Given the description of an element on the screen output the (x, y) to click on. 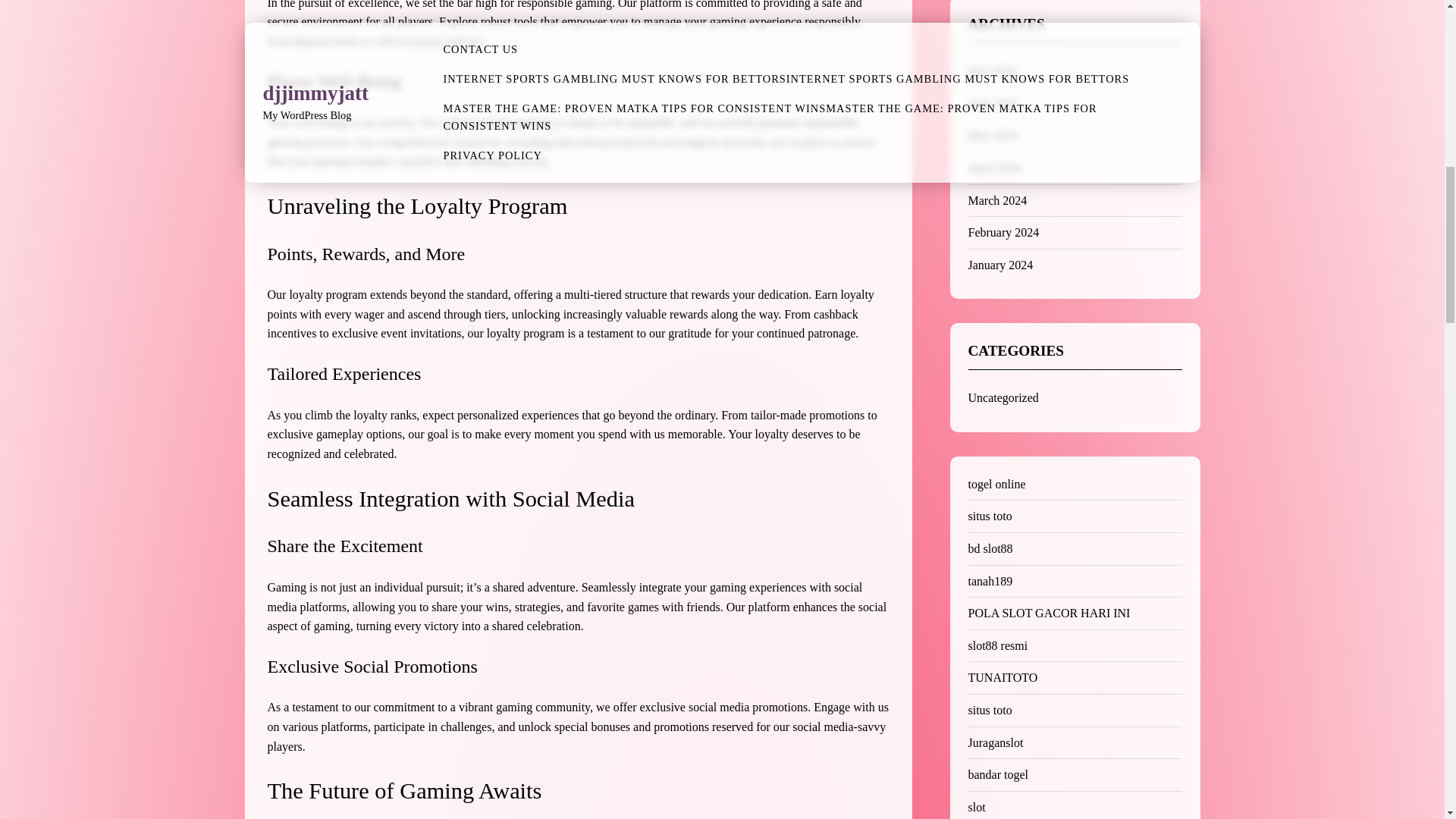
May 2024 (992, 134)
April 2024 (994, 167)
February 2024 (1003, 232)
March 2024 (997, 200)
July 2024 (991, 70)
June 2024 (992, 103)
